Given the description of an element on the screen output the (x, y) to click on. 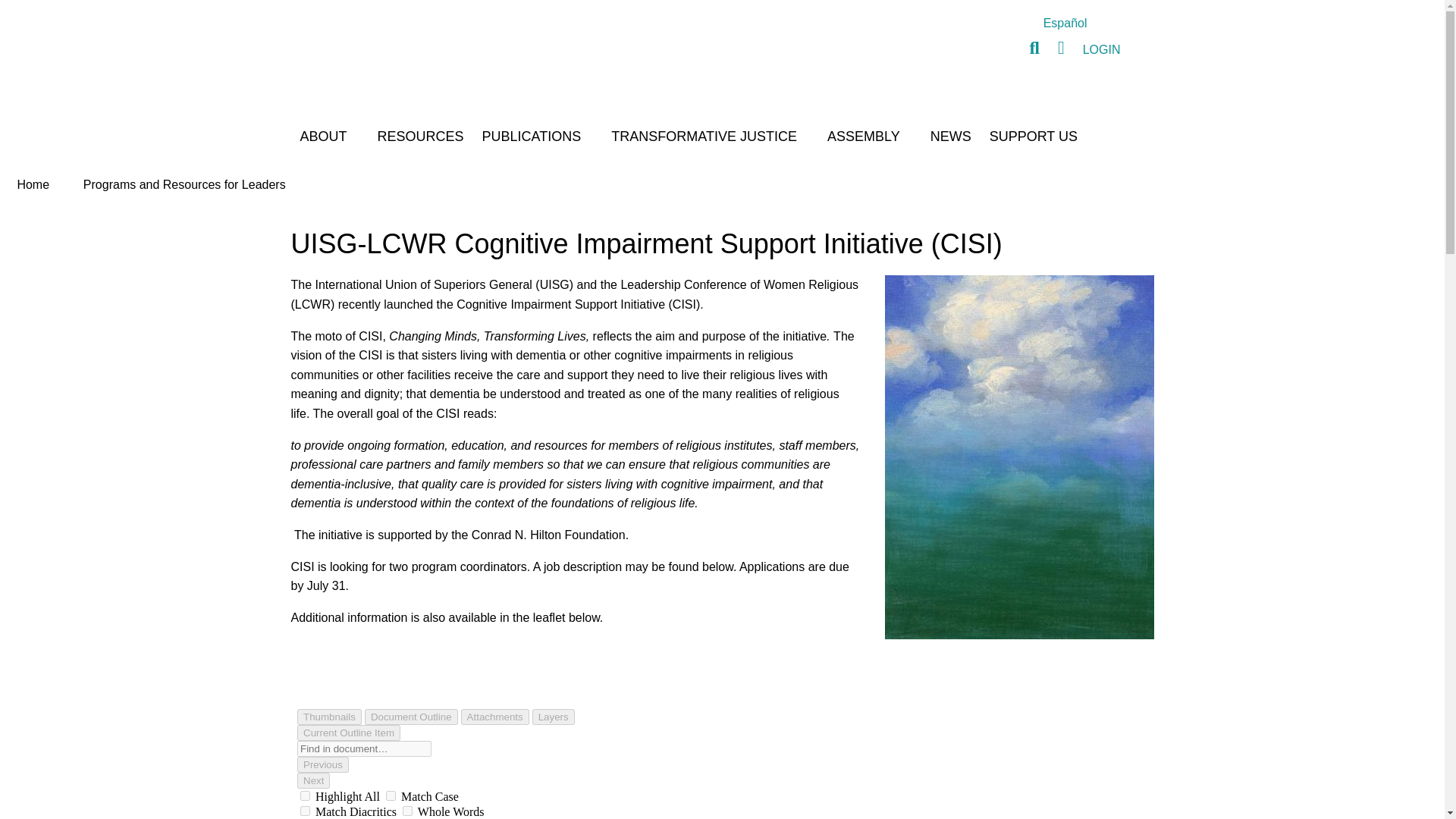
RESOURCES (420, 137)
ASSEMBLY (869, 137)
LOGIN (1101, 49)
PUBLICATIONS (537, 137)
Support LCWR (1032, 137)
Programs and Resources for Leaders (183, 184)
Automated translation through Google (1065, 22)
SUPPORT US (1032, 137)
Leadership Conference of Women Religious homepage (404, 58)
